Given the description of an element on the screen output the (x, y) to click on. 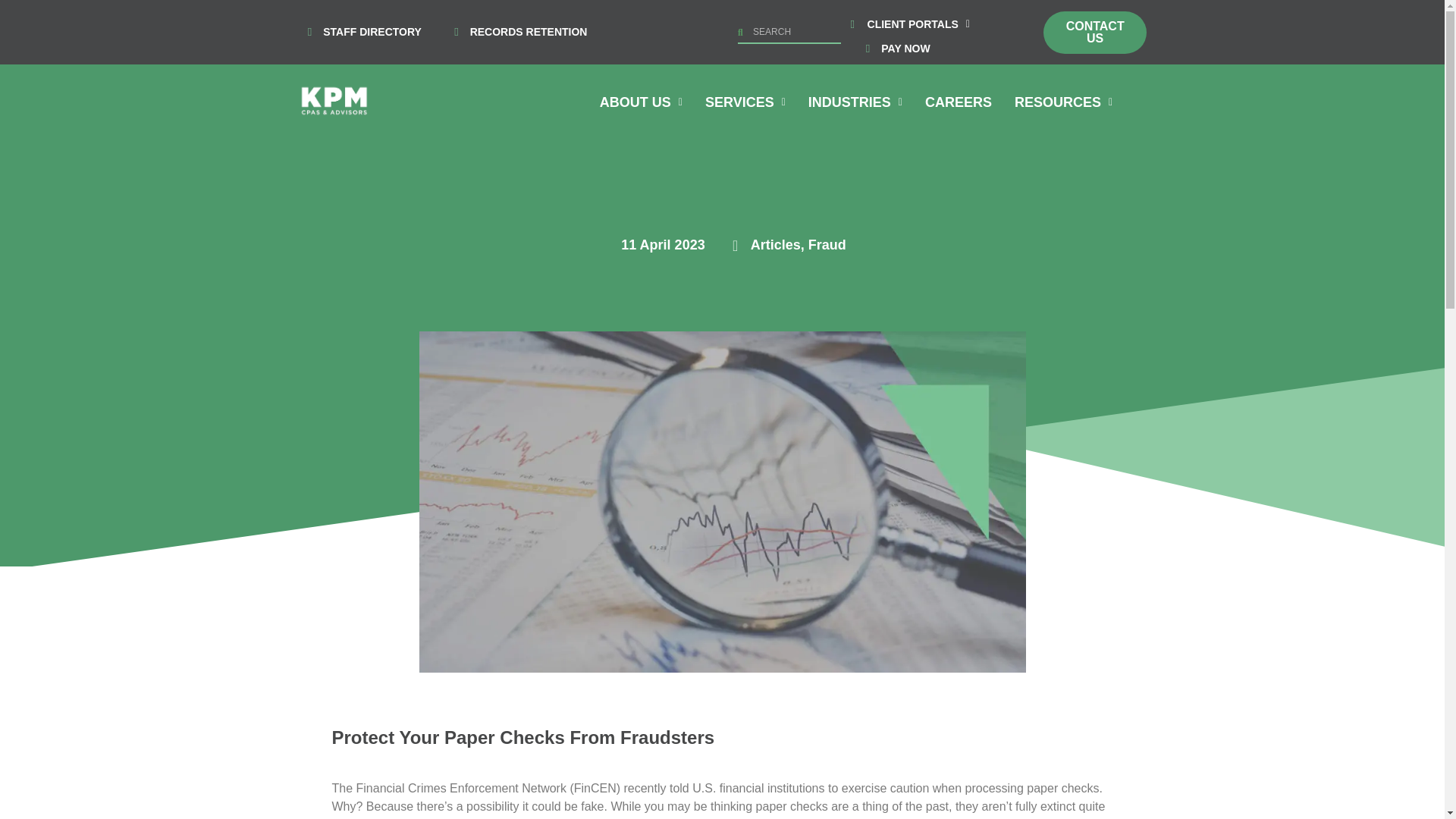
CLIENT PORTALS (918, 23)
INDUSTRIES (855, 102)
STAFF DIRECTORY (358, 32)
SERVICES (745, 102)
ABOUT US (641, 102)
PAY NOW (893, 48)
CONTACT US (1095, 31)
RECORDS RETENTION (516, 32)
